Given the description of an element on the screen output the (x, y) to click on. 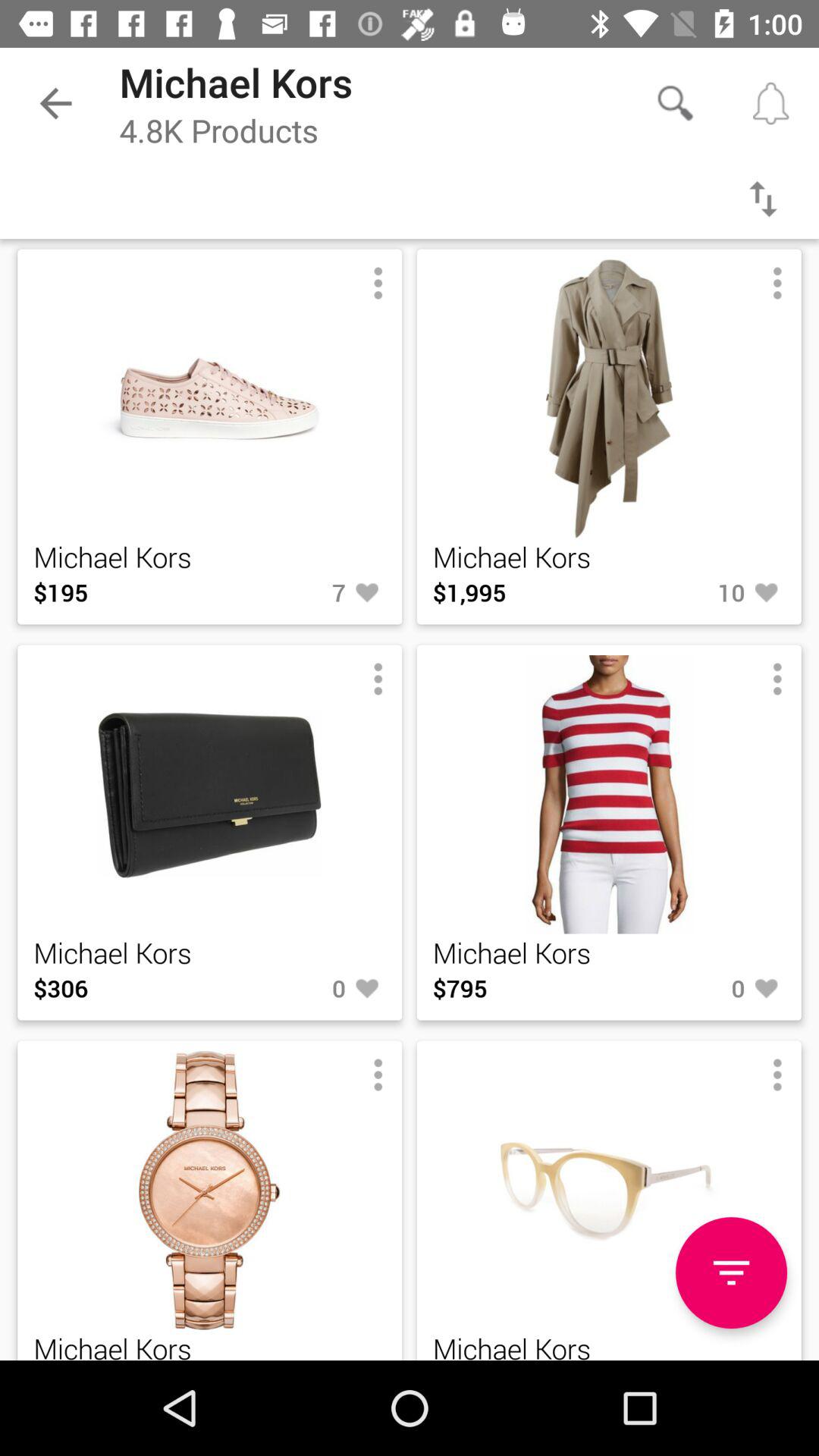
open icon to the left of michael kors app (55, 103)
